Given the description of an element on the screen output the (x, y) to click on. 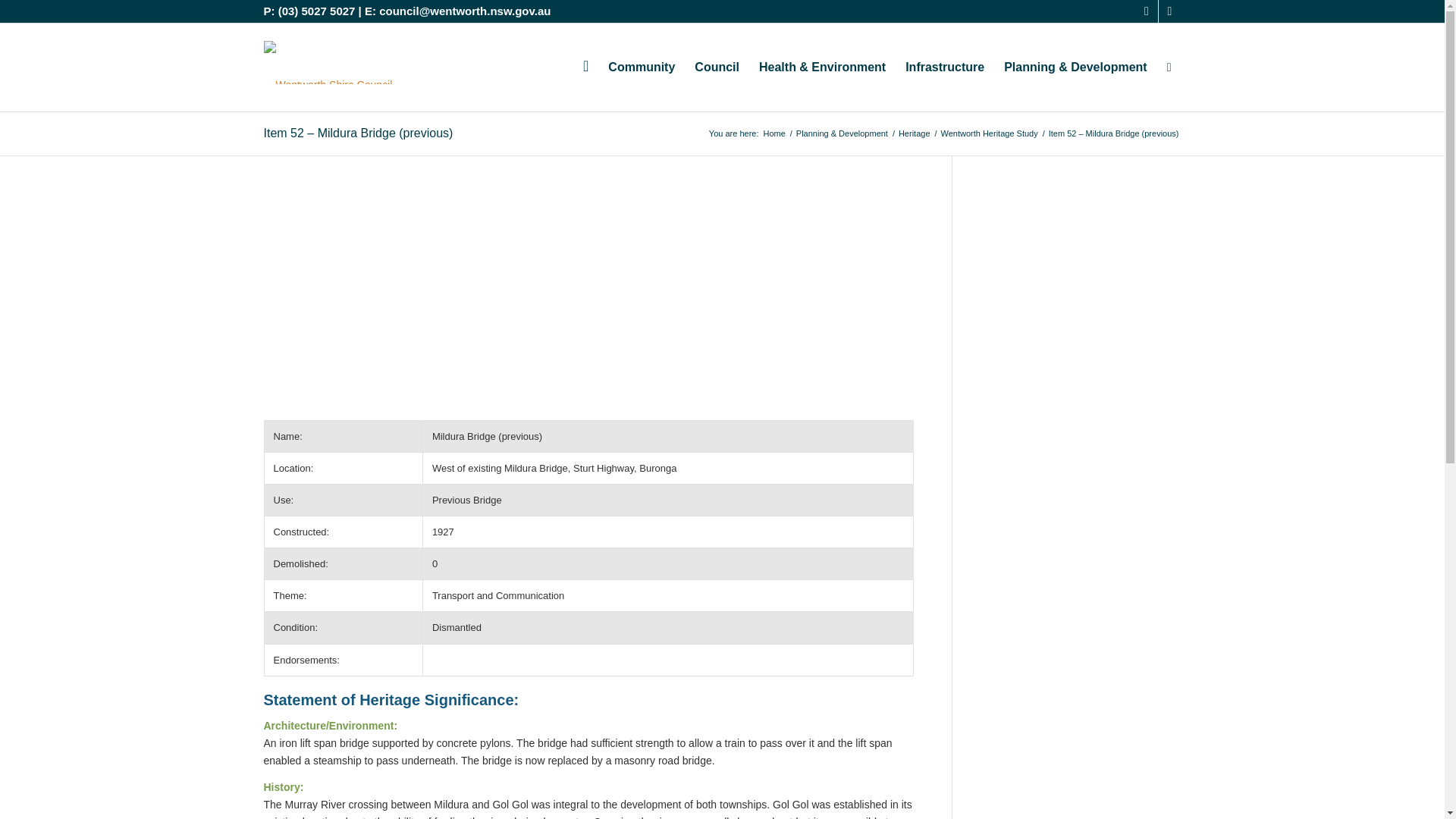
wsc-logo-180 (328, 67)
Wentworth Shire Council (774, 133)
Youtube (1169, 11)
Heritage (914, 133)
Wentworth Heritage Study (990, 133)
wsc-logo-180 (328, 62)
Facebook (1146, 11)
Community (641, 67)
